Given the description of an element on the screen output the (x, y) to click on. 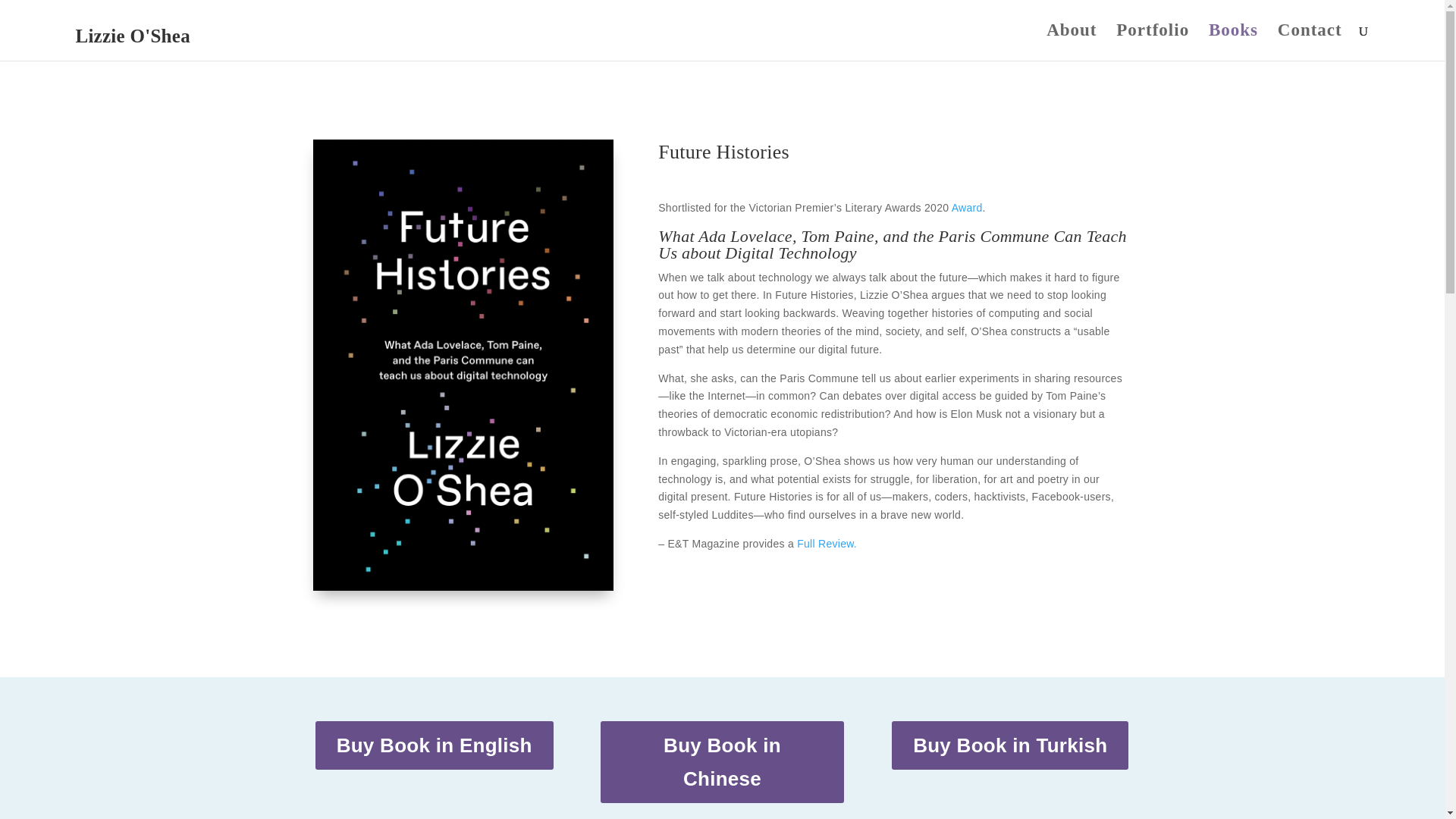
Portfolio (1152, 42)
Lizzie O'Shea (132, 38)
Contact (1310, 42)
Buy Book in English (434, 745)
Full Review. (826, 543)
Books (1232, 42)
Buy Book in Chinese (721, 762)
About (1071, 42)
Award (967, 207)
Buy Book in Turkish (1009, 745)
